Given the description of an element on the screen output the (x, y) to click on. 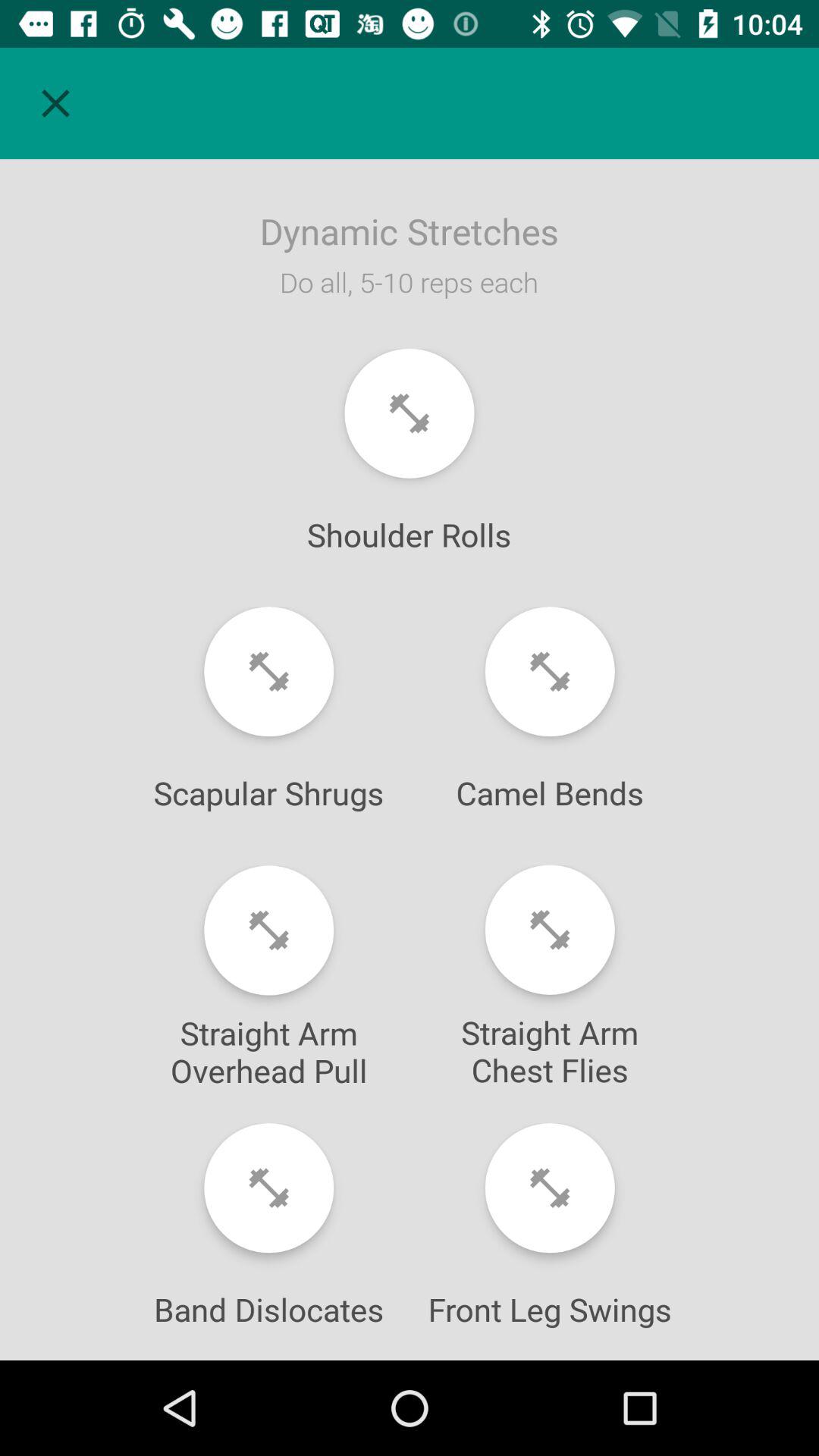
select straight arm overhead pull (268, 930)
